Given the description of an element on the screen output the (x, y) to click on. 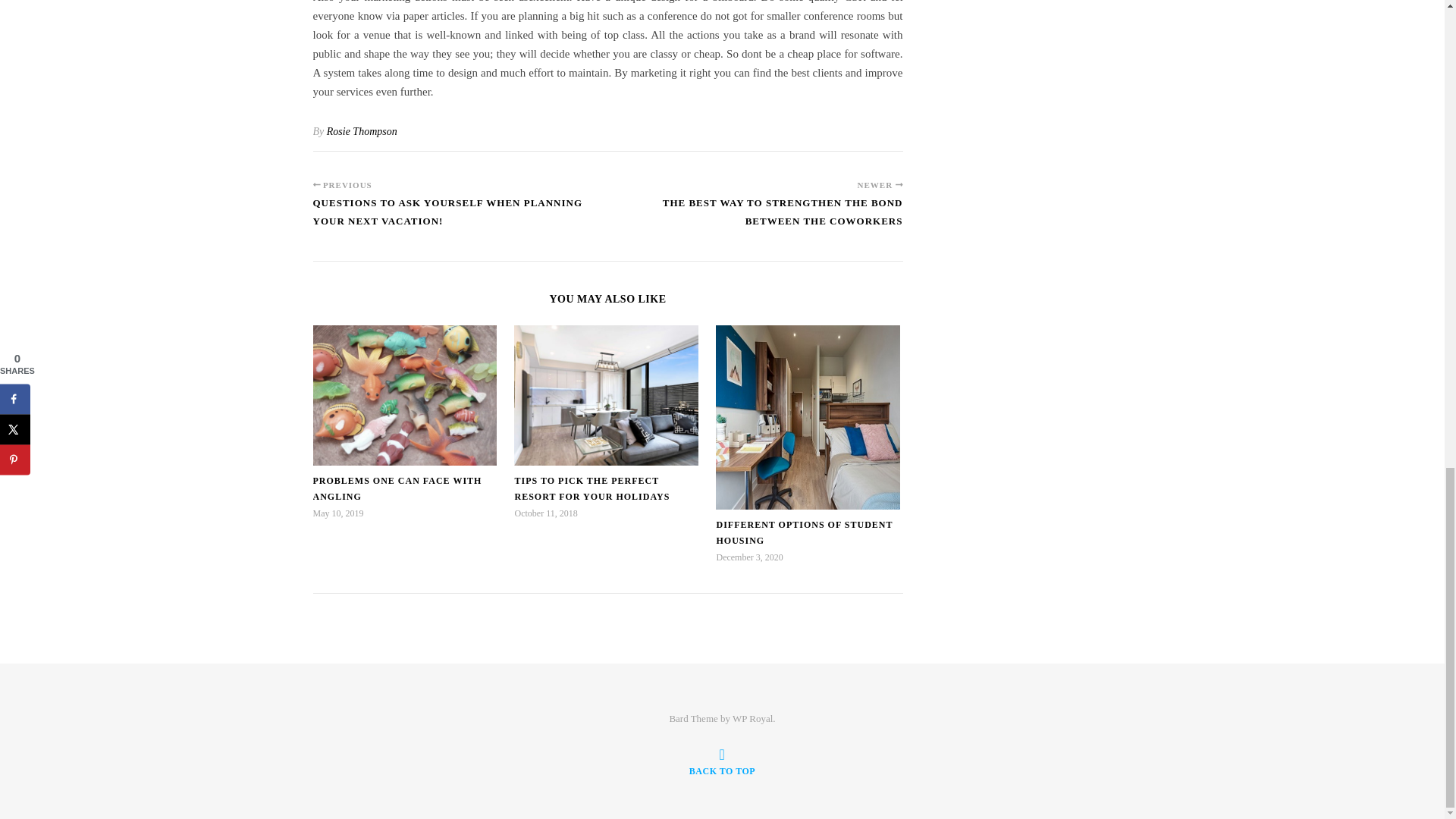
QUESTIONS TO ASK YOURSELF WHEN PLANNING YOUR NEXT VACATION! (460, 219)
PROBLEMS ONE CAN FACE WITH ANGLING (397, 488)
DIFFERENT OPTIONS OF STUDENT HOUSING (804, 532)
TIPS TO PICK THE PERFECT RESORT FOR YOUR HOLIDAYS (591, 488)
BACK TO TOP (722, 761)
Posts by Rosie Thompson (361, 131)
THE BEST WAY TO STRENGTHEN THE BOND BETWEEN THE COWORKERS (755, 219)
Rosie Thompson (361, 131)
Questions To Ask Yourself When Planning Your Next Vacation! (460, 219)
The Best Way To Strengthen The Bond Between The Coworkers (755, 219)
